Given the description of an element on the screen output the (x, y) to click on. 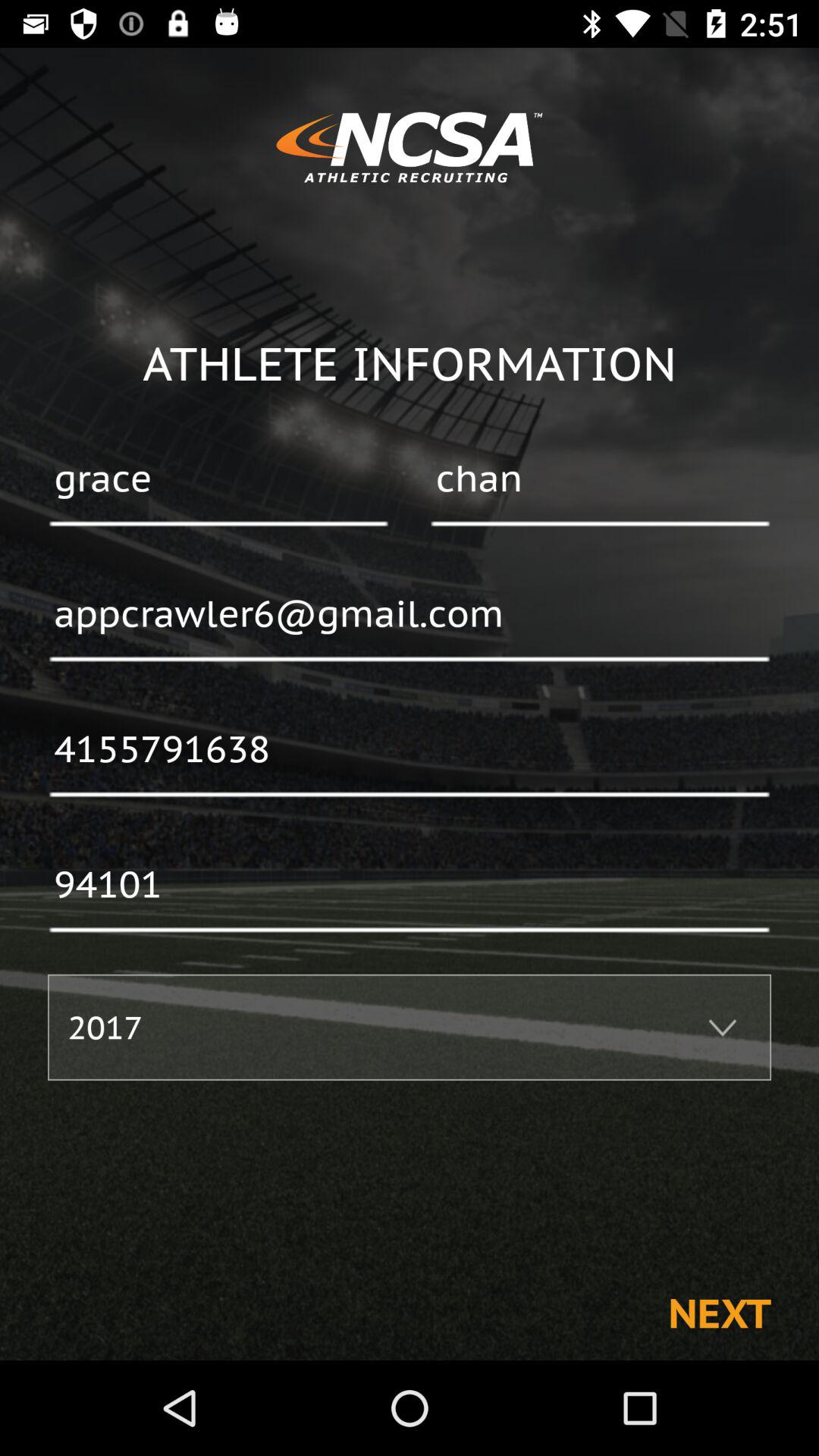
select the next at the bottom right corner (719, 1312)
